Given the description of an element on the screen output the (x, y) to click on. 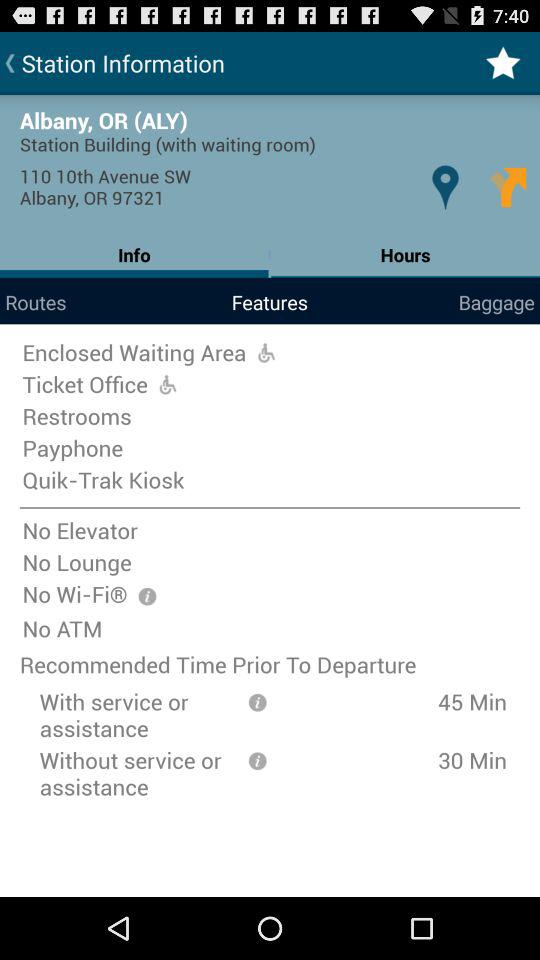
shows infomation about assistance (257, 700)
